Given the description of an element on the screen output the (x, y) to click on. 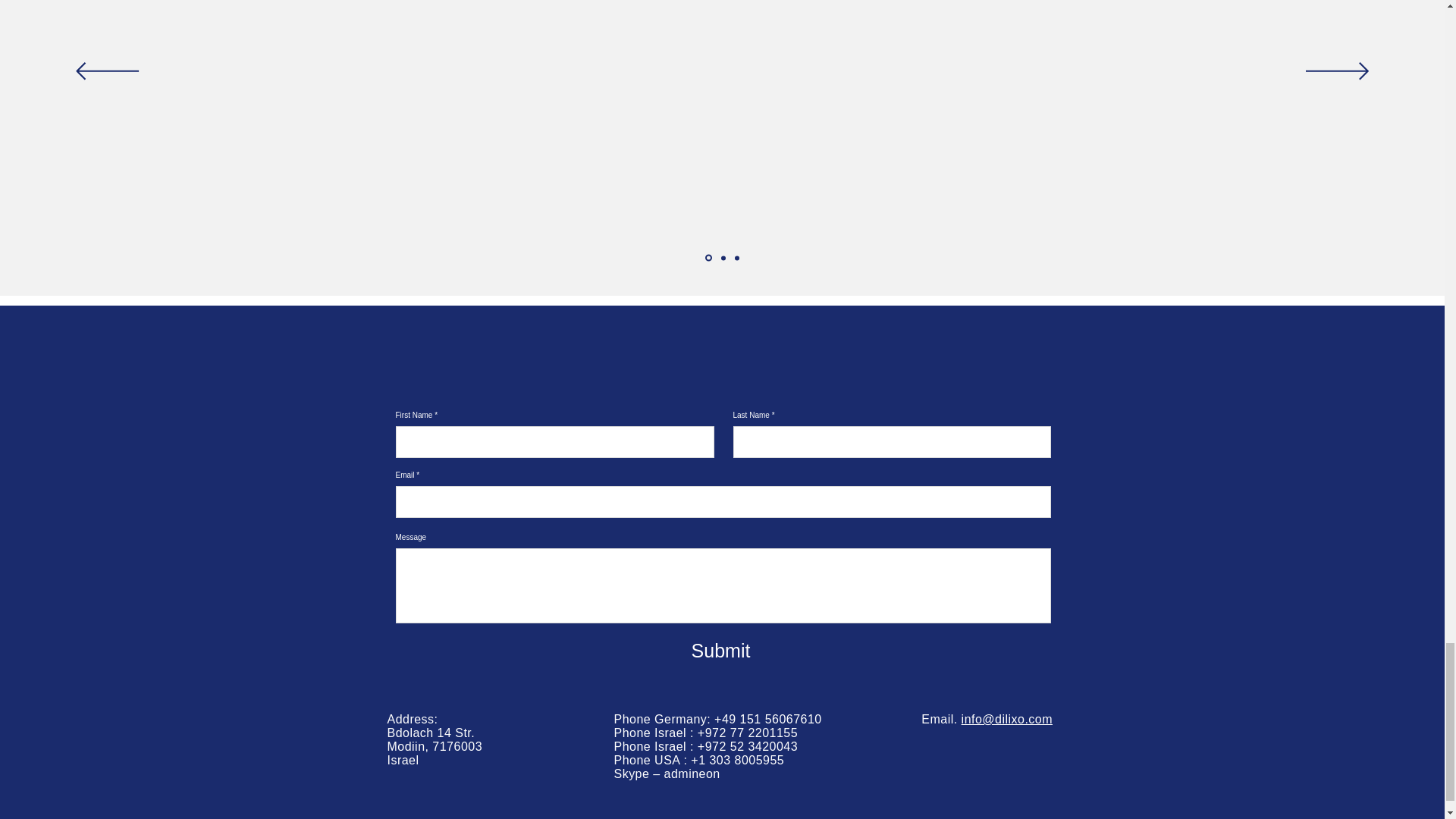
Submit (720, 650)
